Given the description of an element on the screen output the (x, y) to click on. 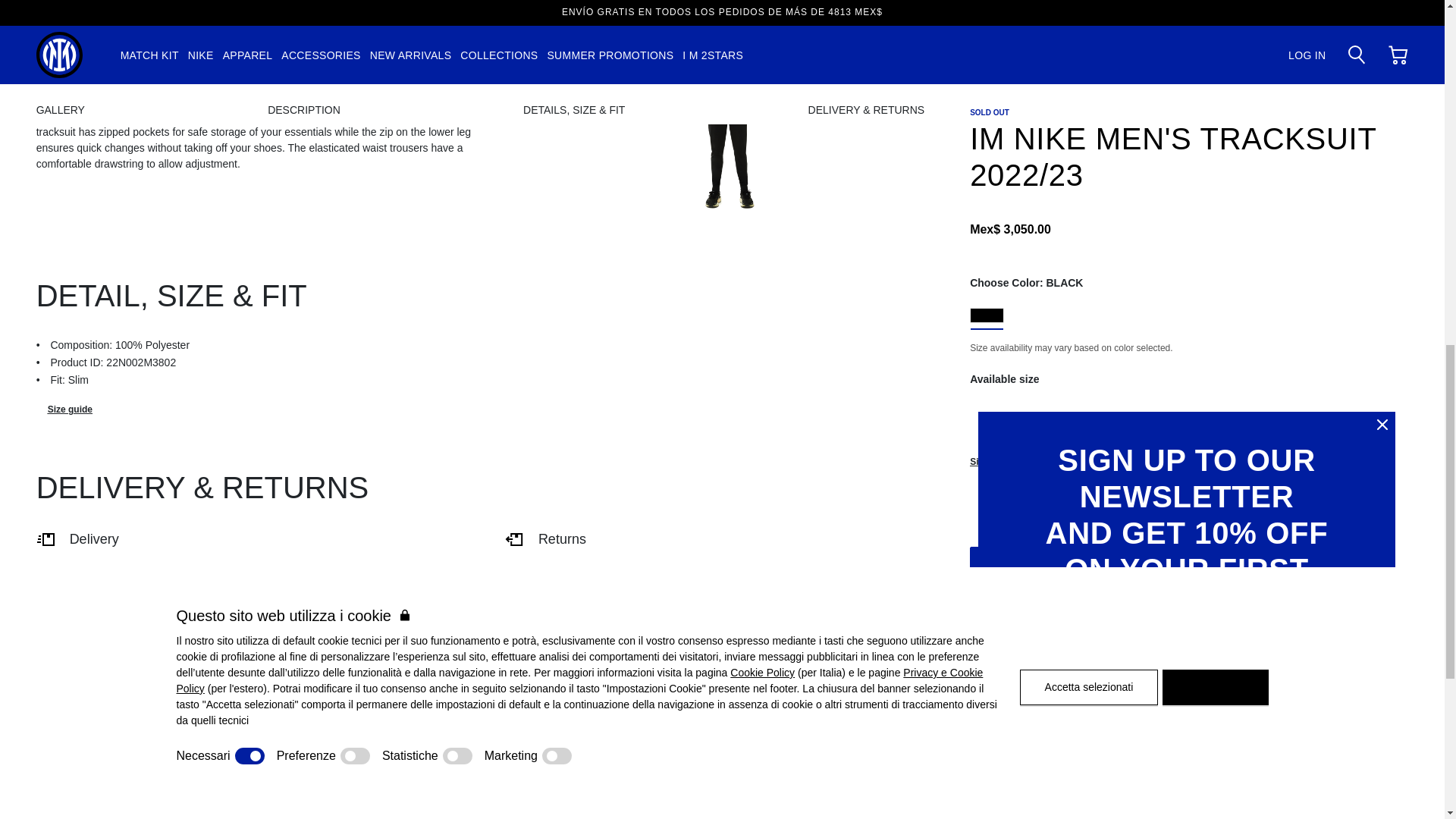
Go to Purchasing Online (673, 816)
Go to Contact Us (880, 816)
